Given the description of an element on the screen output the (x, y) to click on. 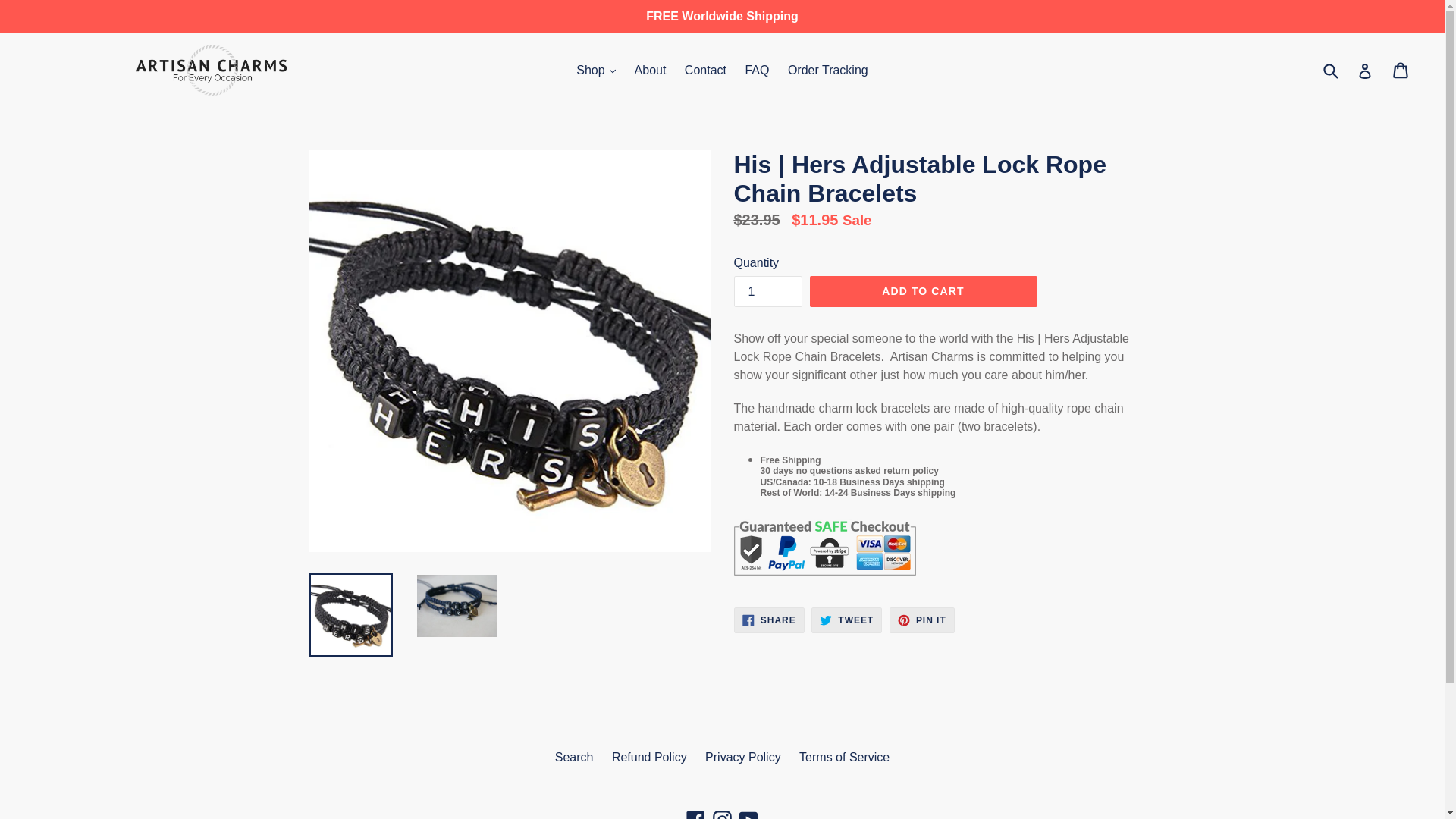
ADD TO CART (922, 291)
Share on Facebook (769, 620)
Order Tracking (769, 620)
Pin on Pinterest (846, 620)
Tweet on Twitter (828, 69)
Artisan Charms on YouTube (922, 620)
Artisan Charms on Facebook (846, 620)
Artisan Charms on Instagram (748, 814)
1 (695, 814)
About (721, 814)
FAQ (767, 291)
Contact (650, 69)
